Given the description of an element on the screen output the (x, y) to click on. 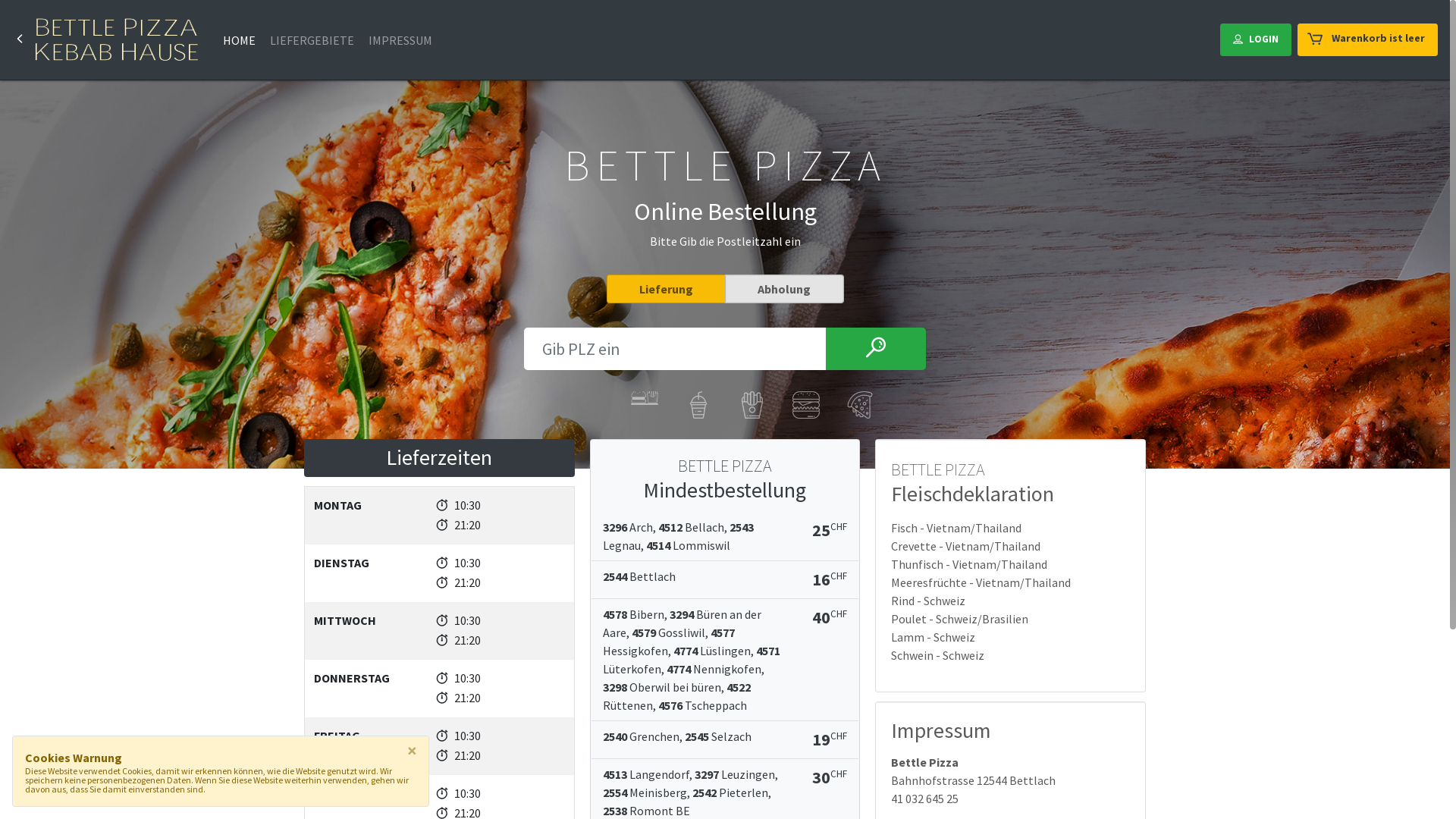
HOME
(CURRENT) Element type: text (238, 39)
IMPRESSUM Element type: text (399, 39)
LOGIN Element type: text (1255, 39)
LIEFERGEBIETE Element type: text (311, 39)
Warenkorb ist leer Element type: text (1367, 39)
